Given the description of an element on the screen output the (x, y) to click on. 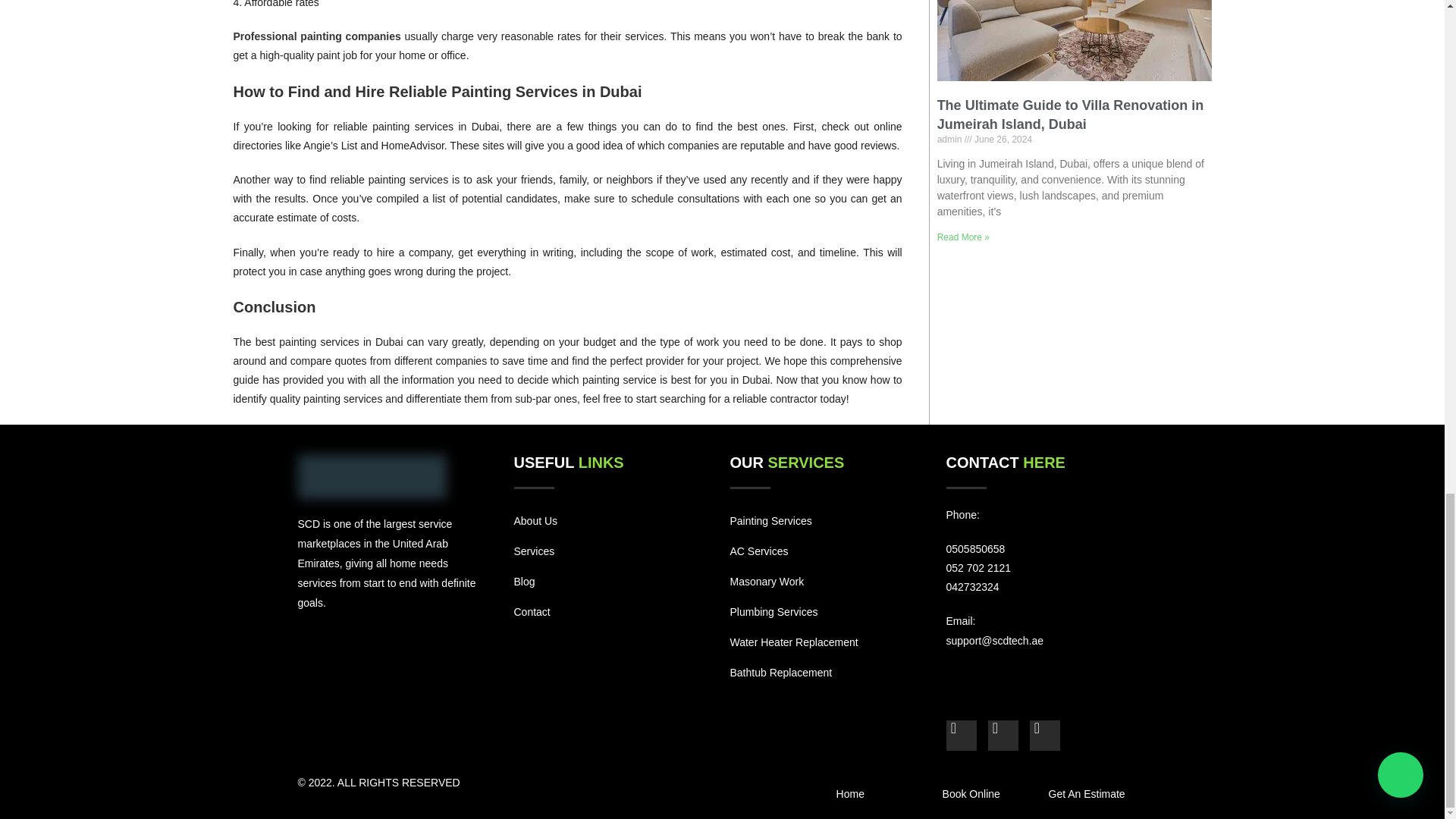
Professional painting companies (316, 36)
